Given the description of an element on the screen output the (x, y) to click on. 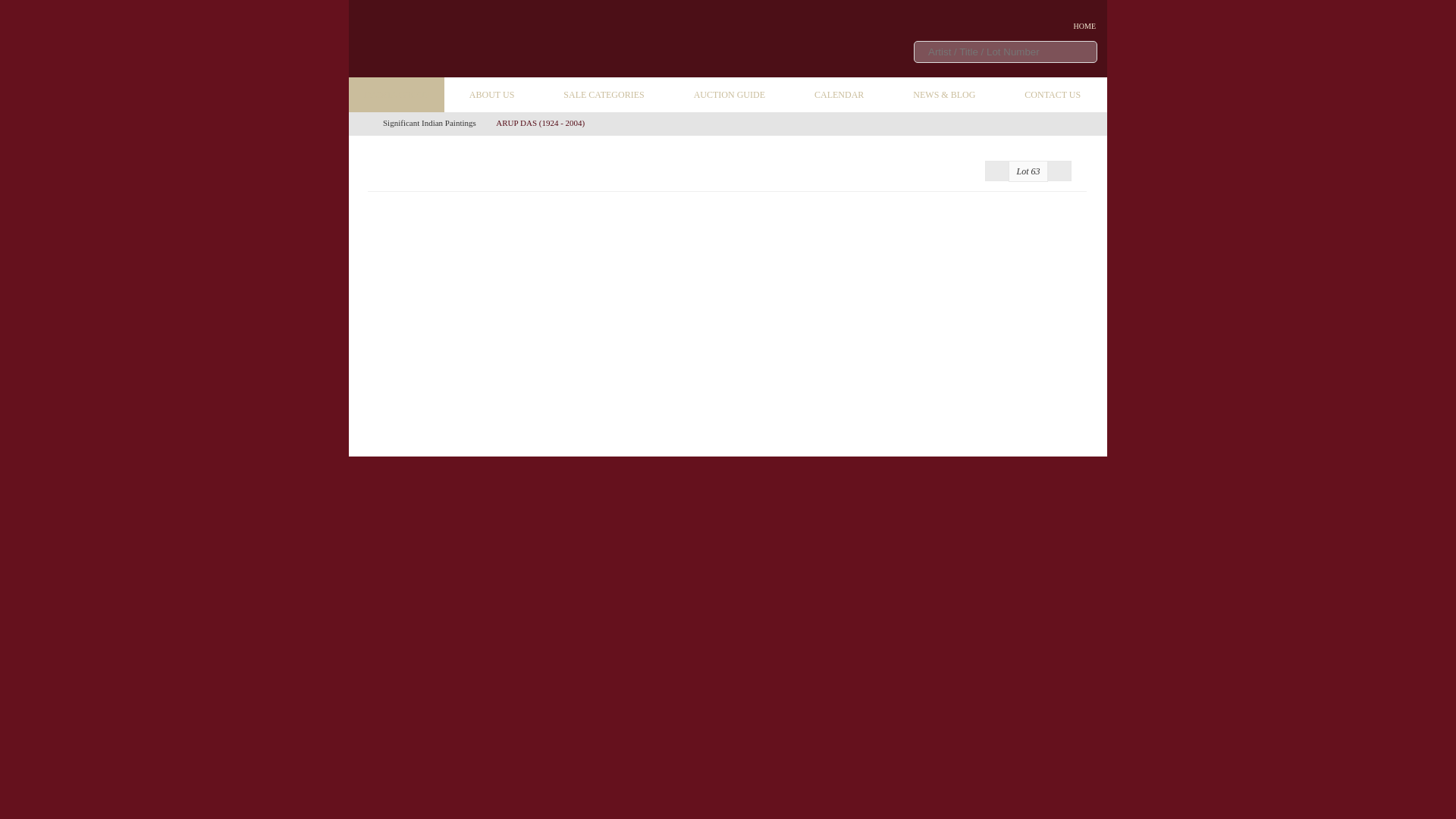
Lot 63 (1028, 170)
HOME (1077, 27)
DADHA GROUP (396, 94)
CALENDAR (838, 94)
SALE CATEGORIES (603, 94)
ABOUT US (491, 94)
AUCTION GUIDE (728, 94)
